Given the description of an element on the screen output the (x, y) to click on. 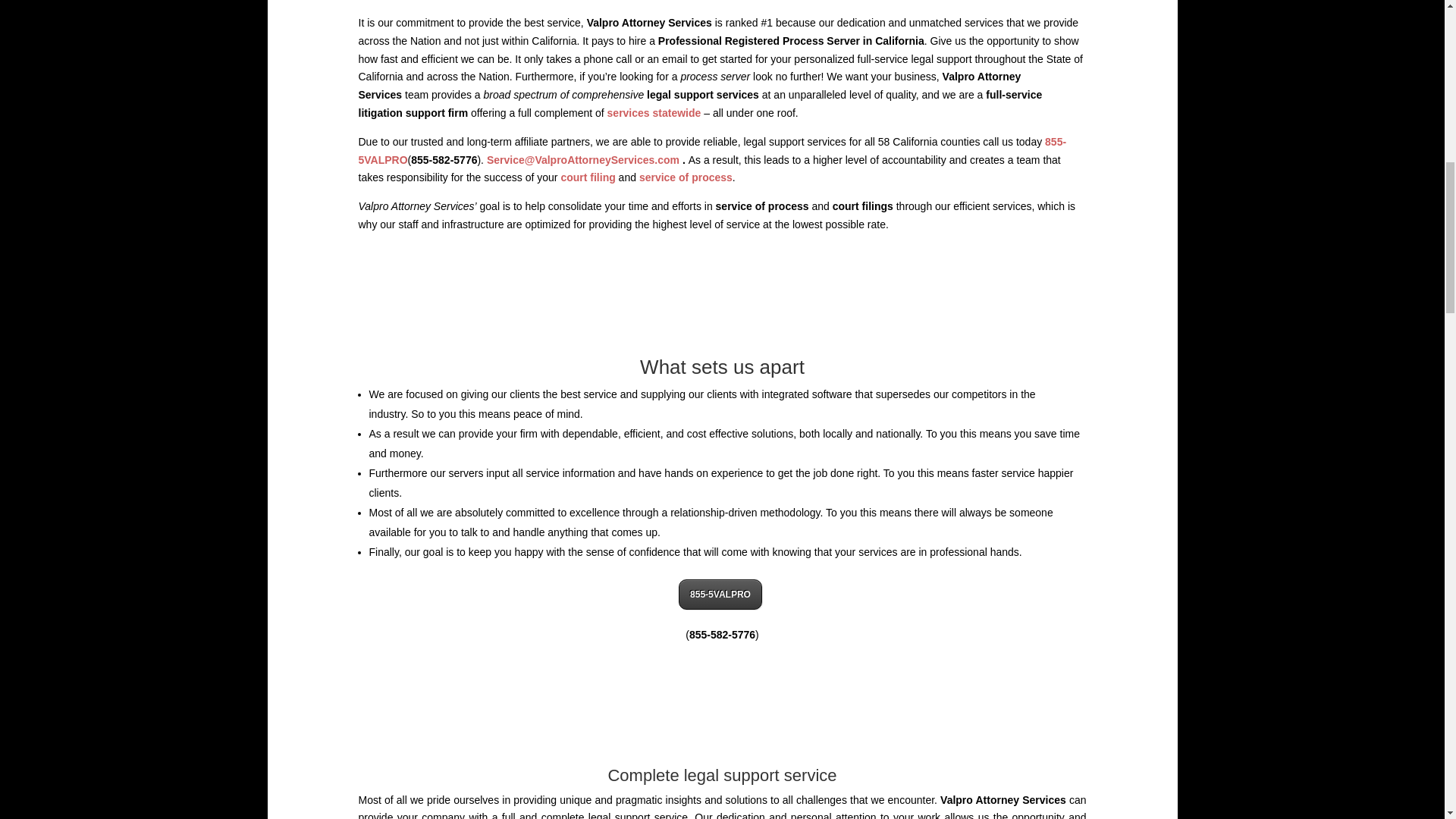
service of process (685, 177)
855-5VALPRO (719, 594)
855-5VALPRO (711, 150)
court filing (587, 177)
services statewide (654, 112)
